Given the description of an element on the screen output the (x, y) to click on. 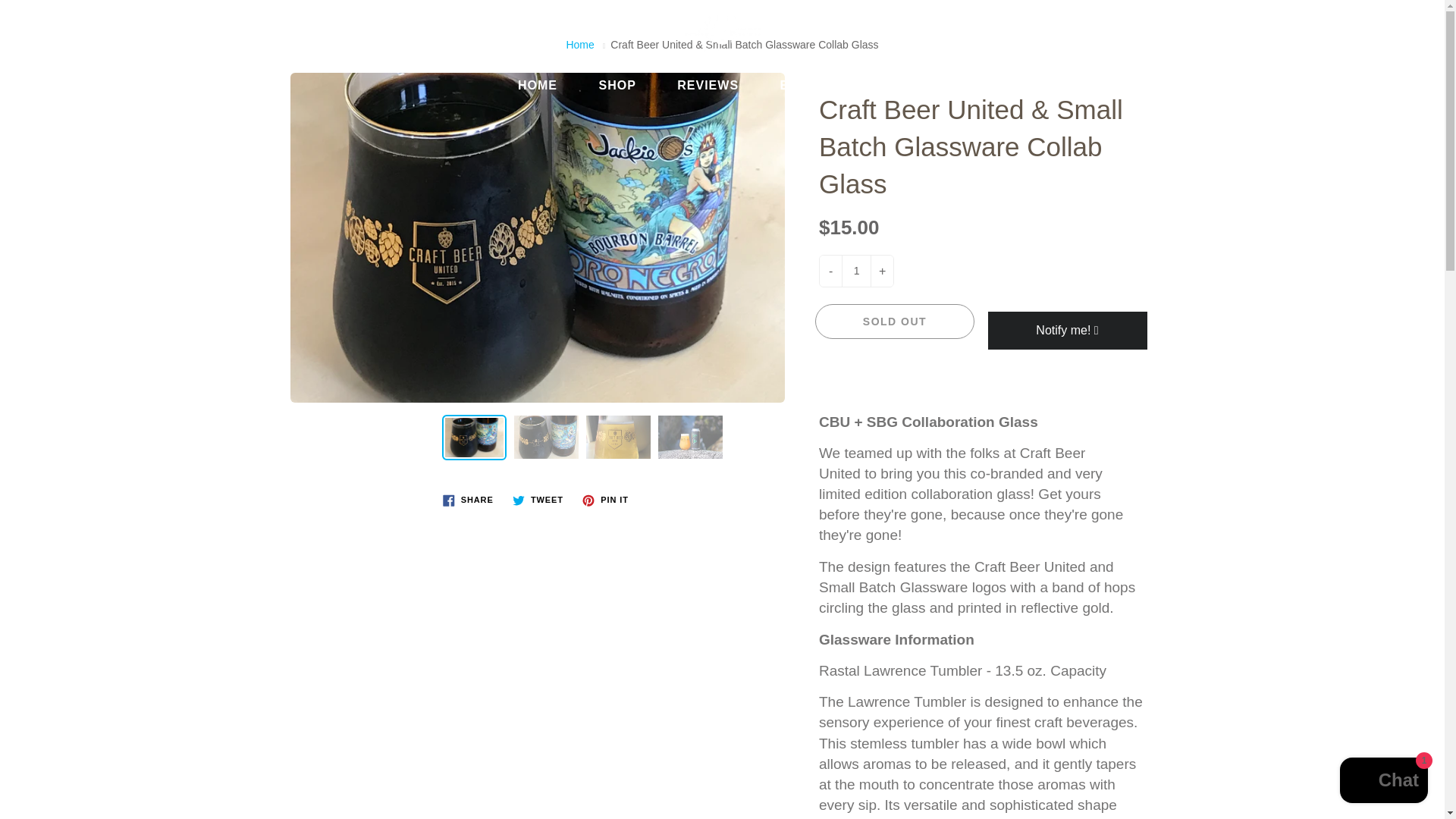
Home (580, 44)
BLOG (804, 85)
Search (28, 26)
You have 0 items in your cart (1417, 26)
REVIEWS (707, 85)
SHOP (616, 85)
HOME (537, 85)
My account (1379, 26)
1 (855, 270)
ABOUT (897, 85)
